Given the description of an element on the screen output the (x, y) to click on. 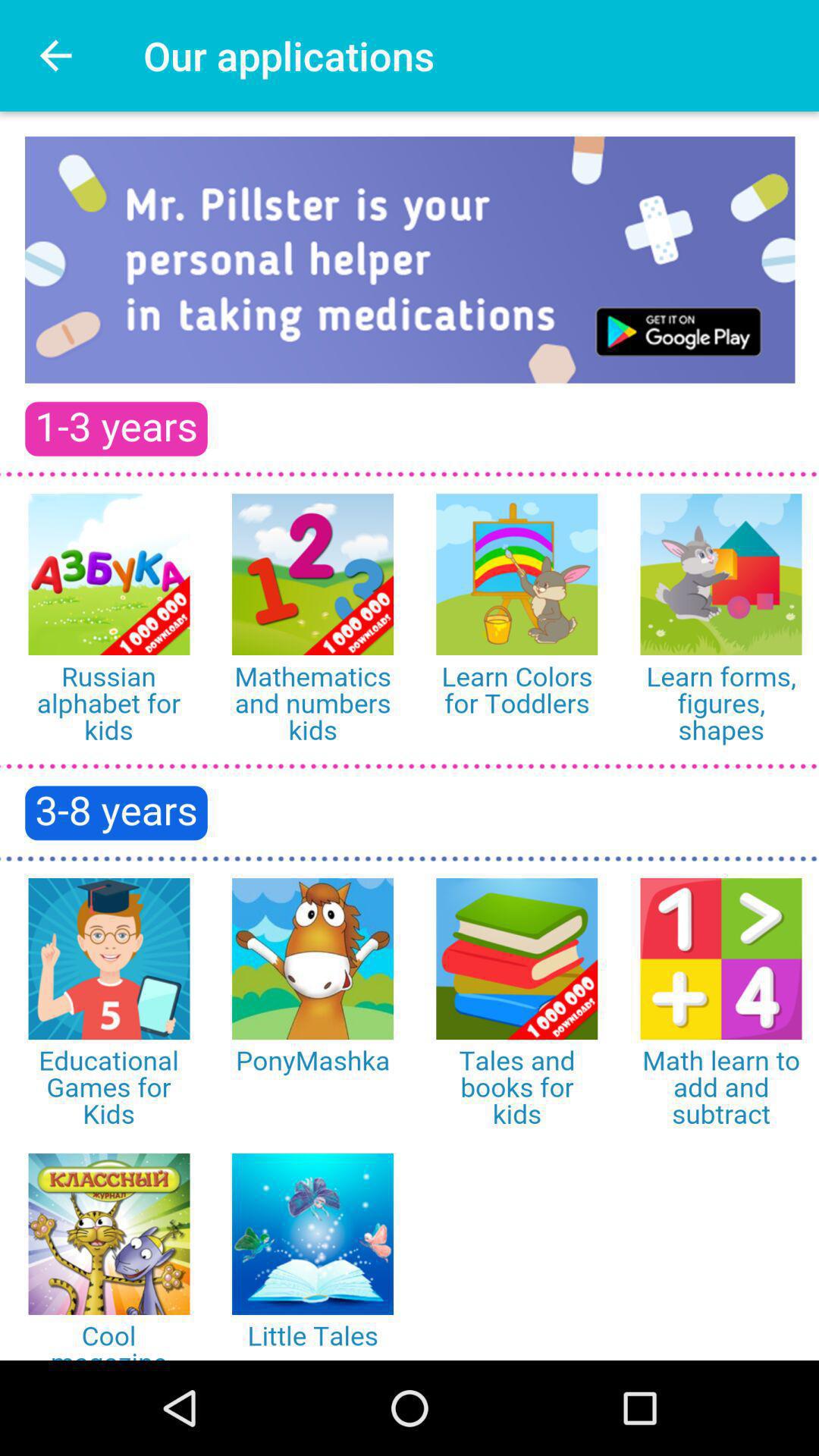
choose from various apps (409, 735)
